Given the description of an element on the screen output the (x, y) to click on. 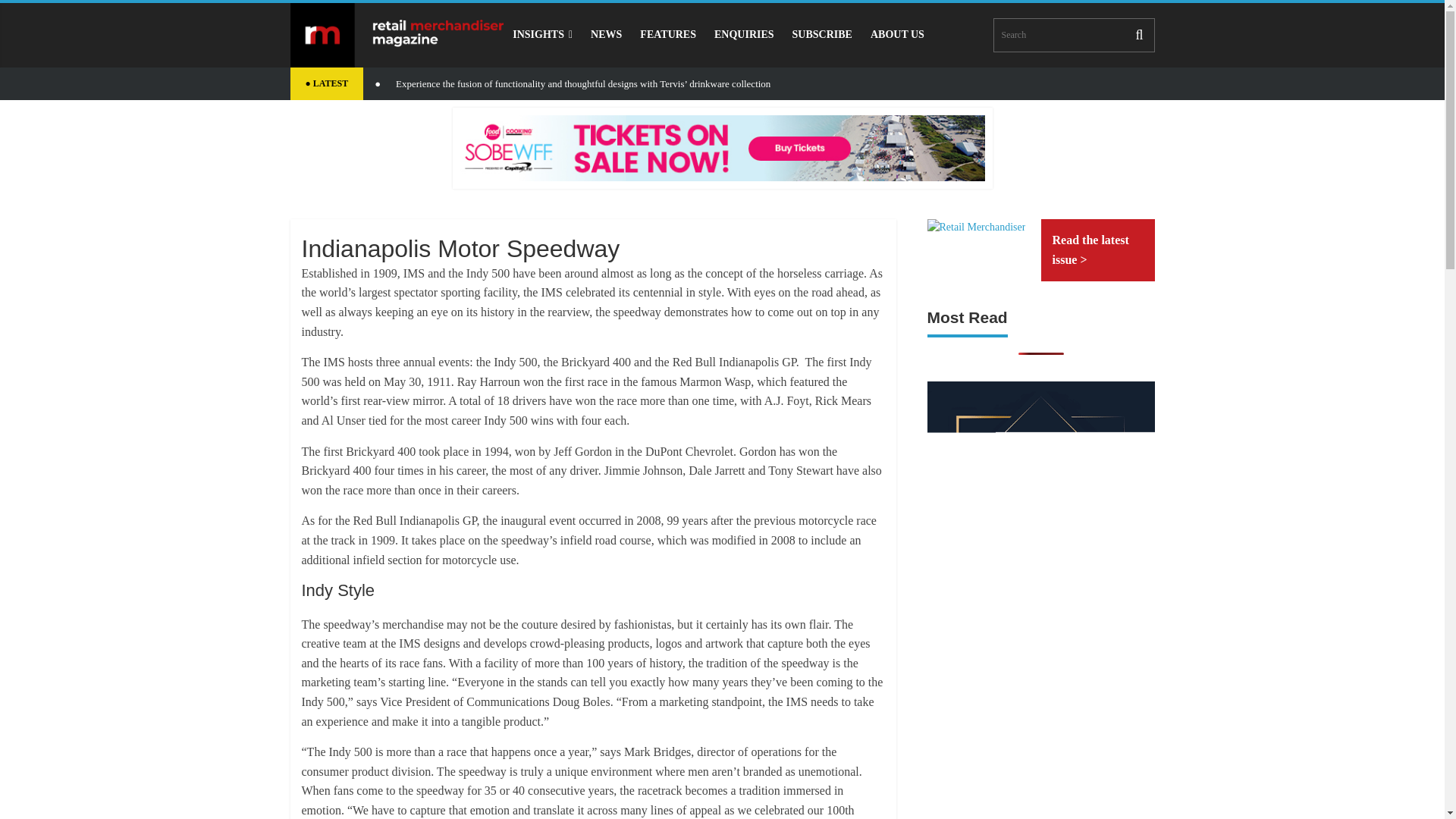
Retail Merchandiser (975, 227)
SUBSCRIBE (822, 34)
FEATURES (667, 34)
Retail Merchandiser (396, 35)
ABOUT US (897, 34)
INSIGHTS (541, 34)
NEWS (605, 34)
ENQUIRIES (743, 34)
